Given the description of an element on the screen output the (x, y) to click on. 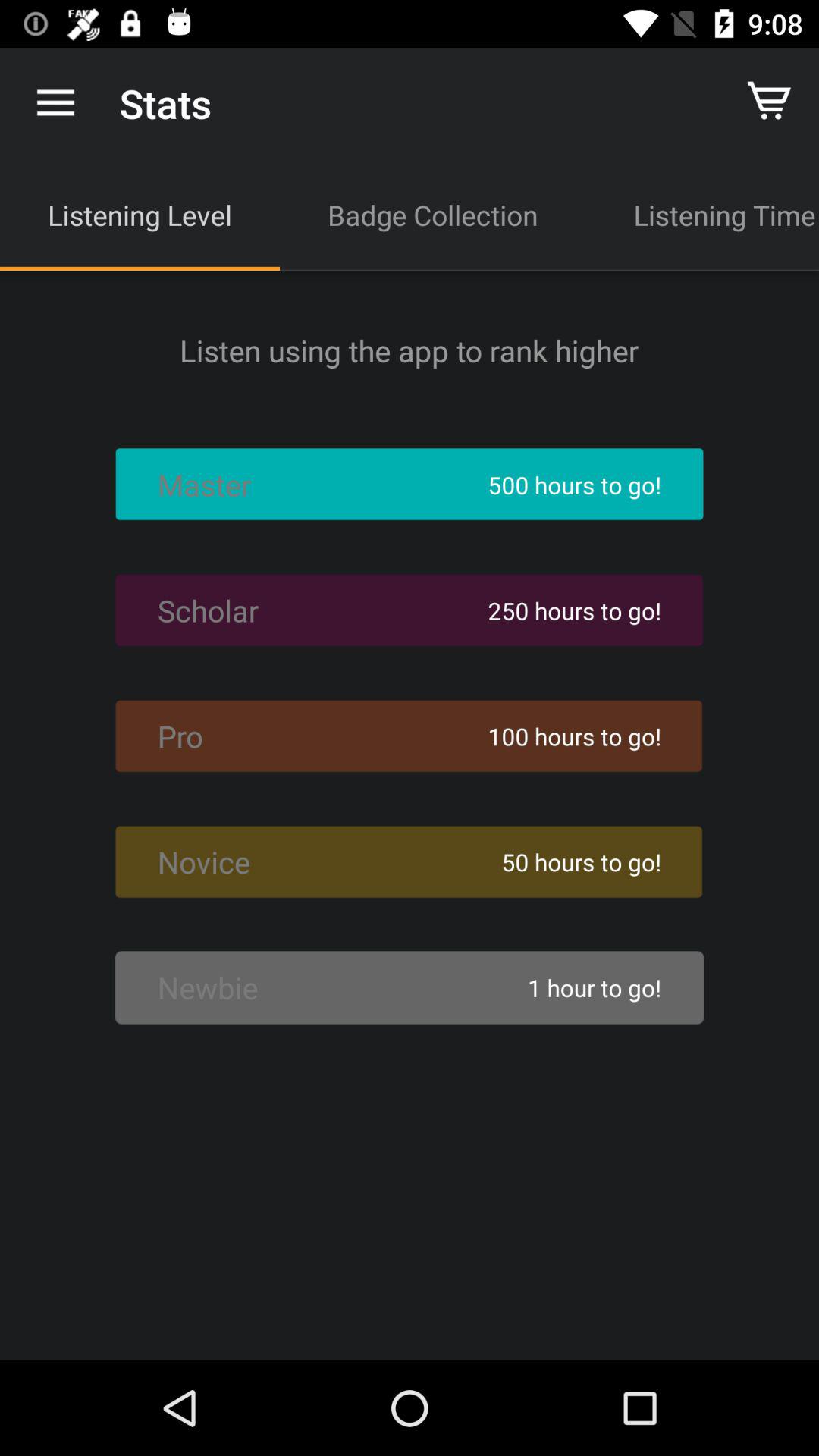
turn off the app next to the badge collection (702, 214)
